Given the description of an element on the screen output the (x, y) to click on. 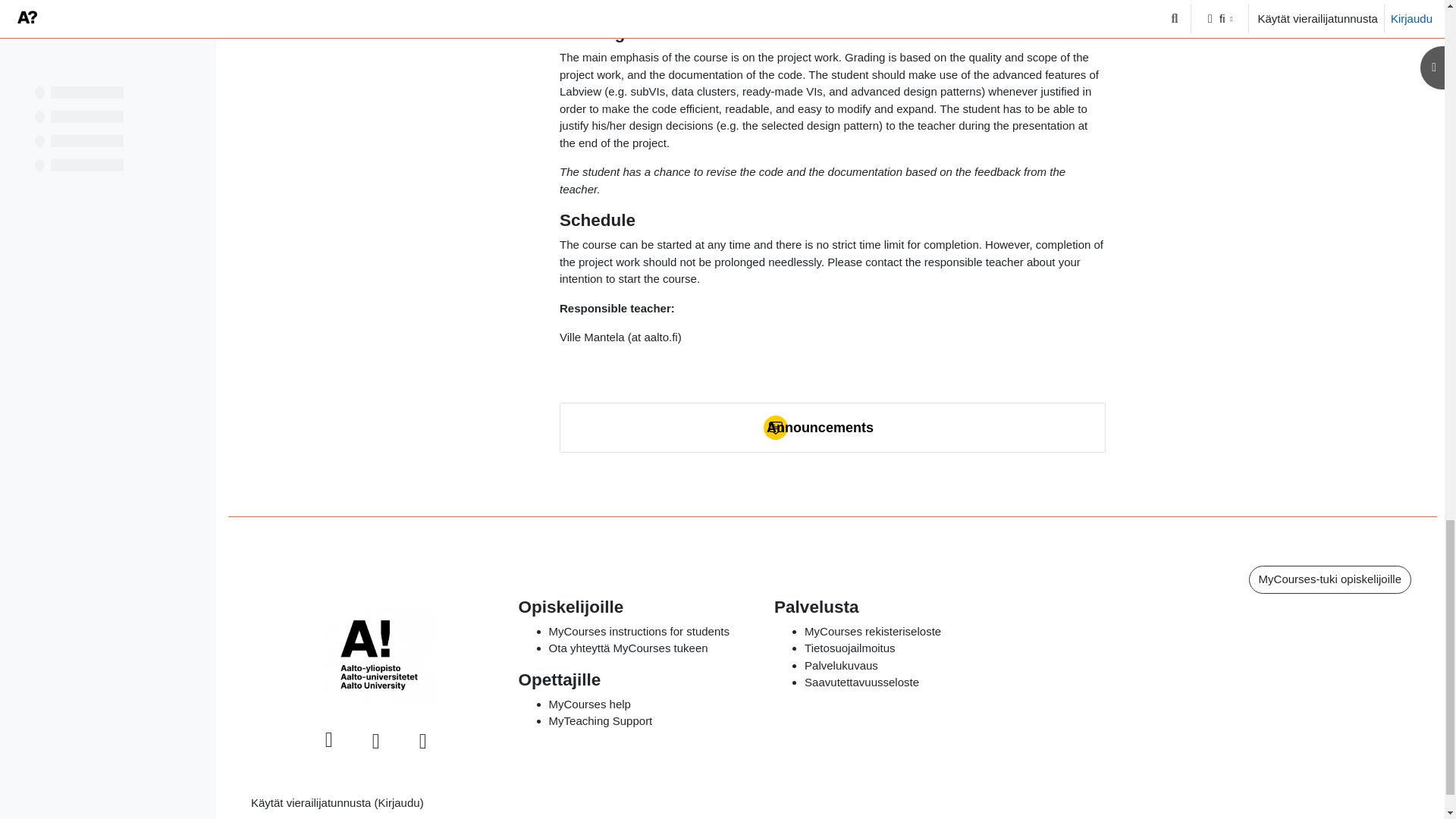
Facebook (328, 740)
Twitter (376, 741)
Youtube (422, 741)
